Given the description of an element on the screen output the (x, y) to click on. 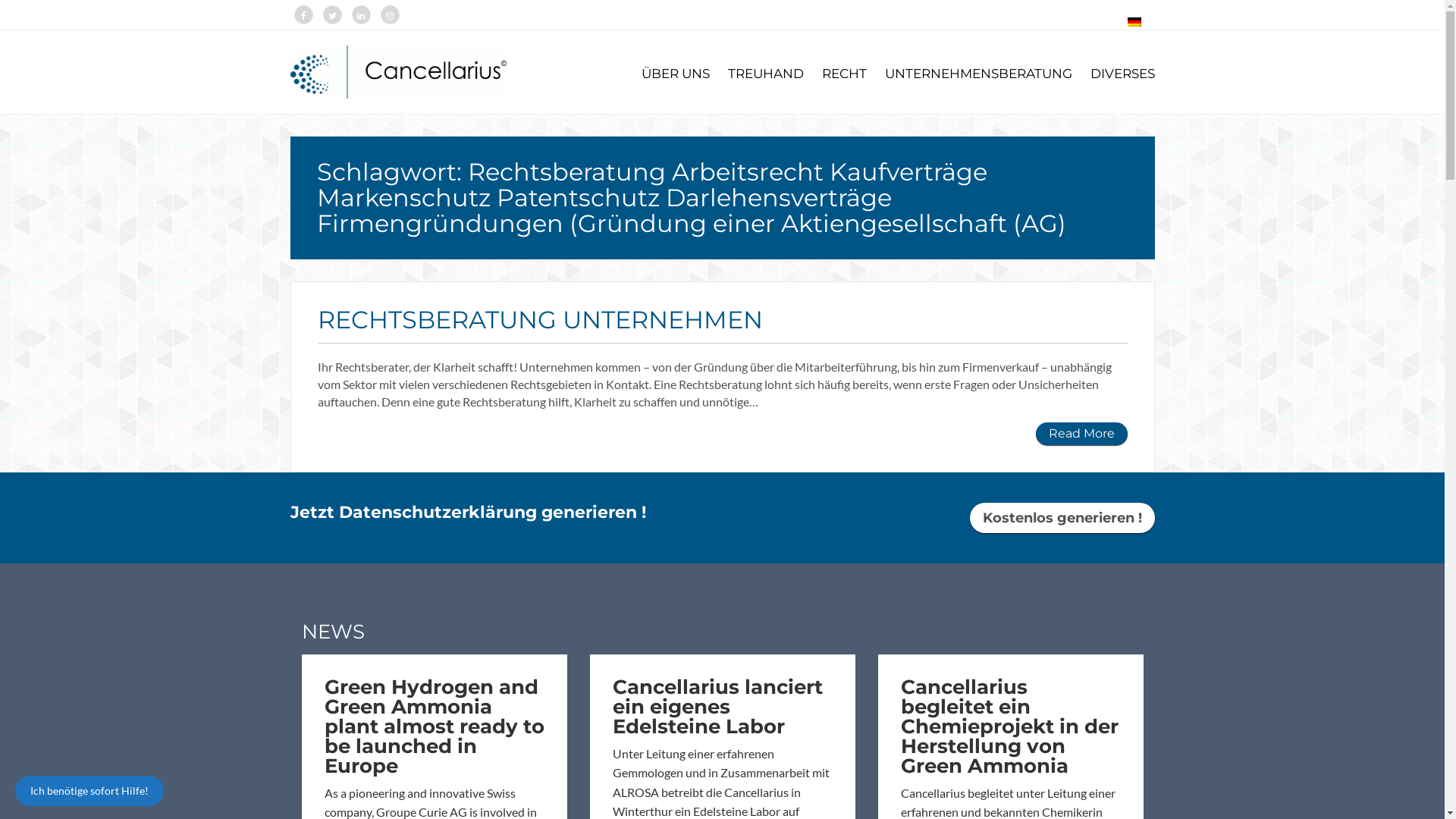
RECHTSBERATUNG UNTERNEHMEN Element type: text (539, 319)
DIVERSES Element type: text (1114, 73)
Read More Element type: text (1081, 433)
UNTERNEHMENSBERATUNG Element type: text (970, 73)
RECHT Element type: text (836, 73)
Cancellarius lanciert ein eigenes Edelsteine Labor Element type: text (717, 706)
Kostenlos generieren ! Element type: text (1061, 517)
Deutsch Element type: hover (1133, 21)
TREUHAND Element type: text (757, 73)
